Given the description of an element on the screen output the (x, y) to click on. 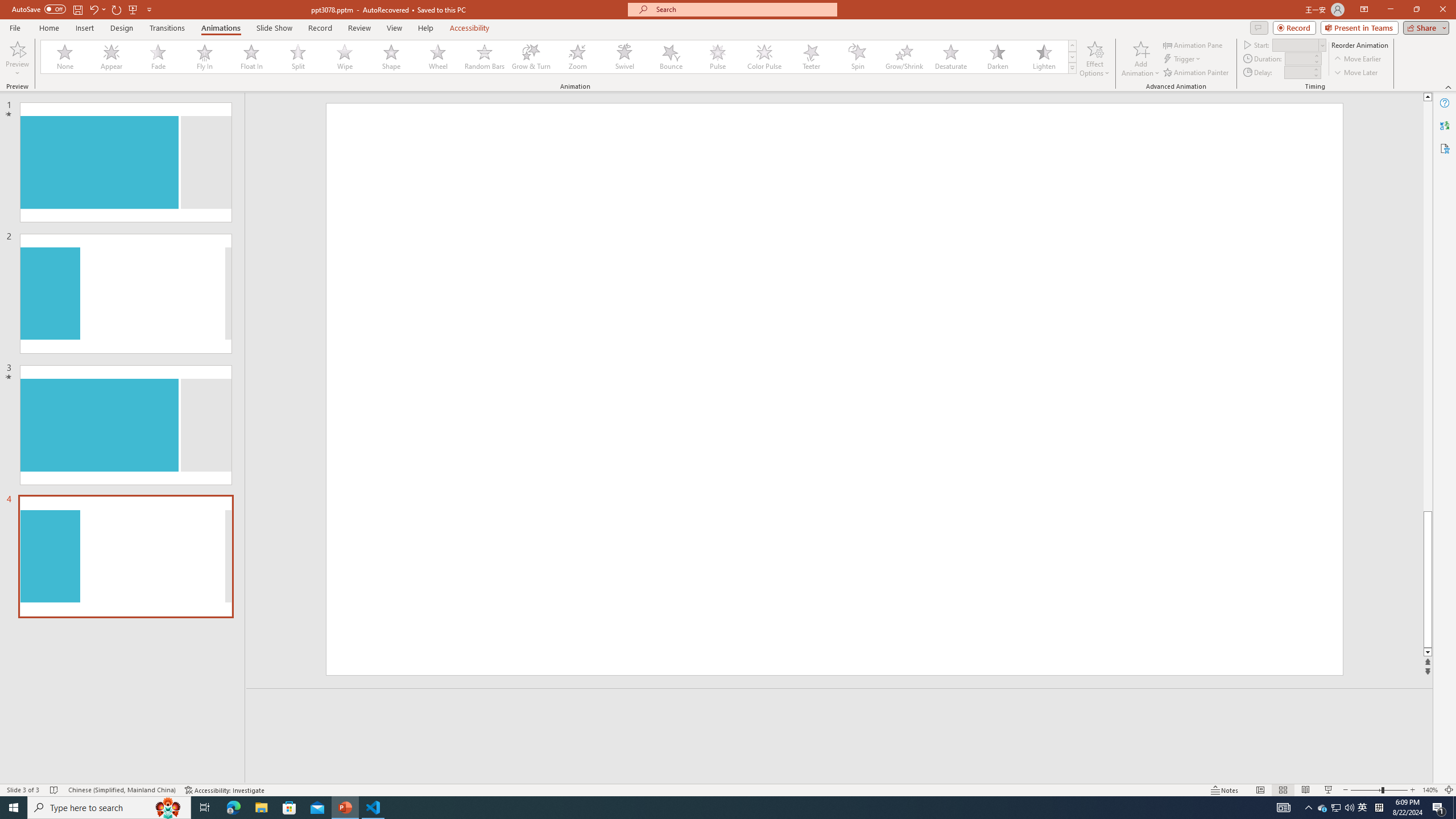
Slide Notes (839, 705)
Move Earlier (1357, 58)
Spin (857, 56)
Lighten (1043, 56)
Zoom 140% (1430, 790)
Color Pulse (764, 56)
Animation Delay (1297, 72)
